Given the description of an element on the screen output the (x, y) to click on. 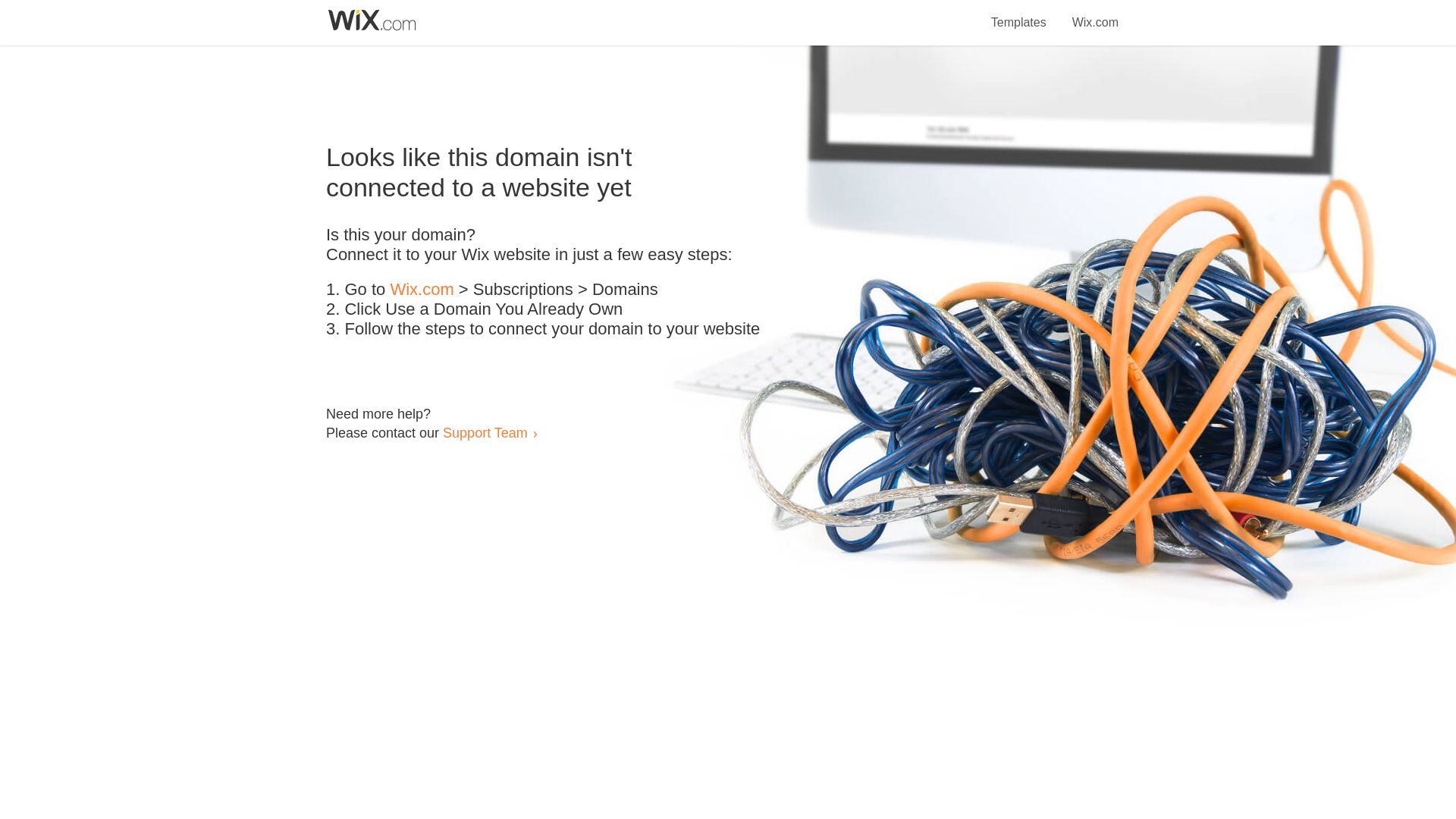
Support Team (484, 432)
Wix.com (1095, 14)
Wix.com (421, 289)
Templates (1018, 14)
